Given the description of an element on the screen output the (x, y) to click on. 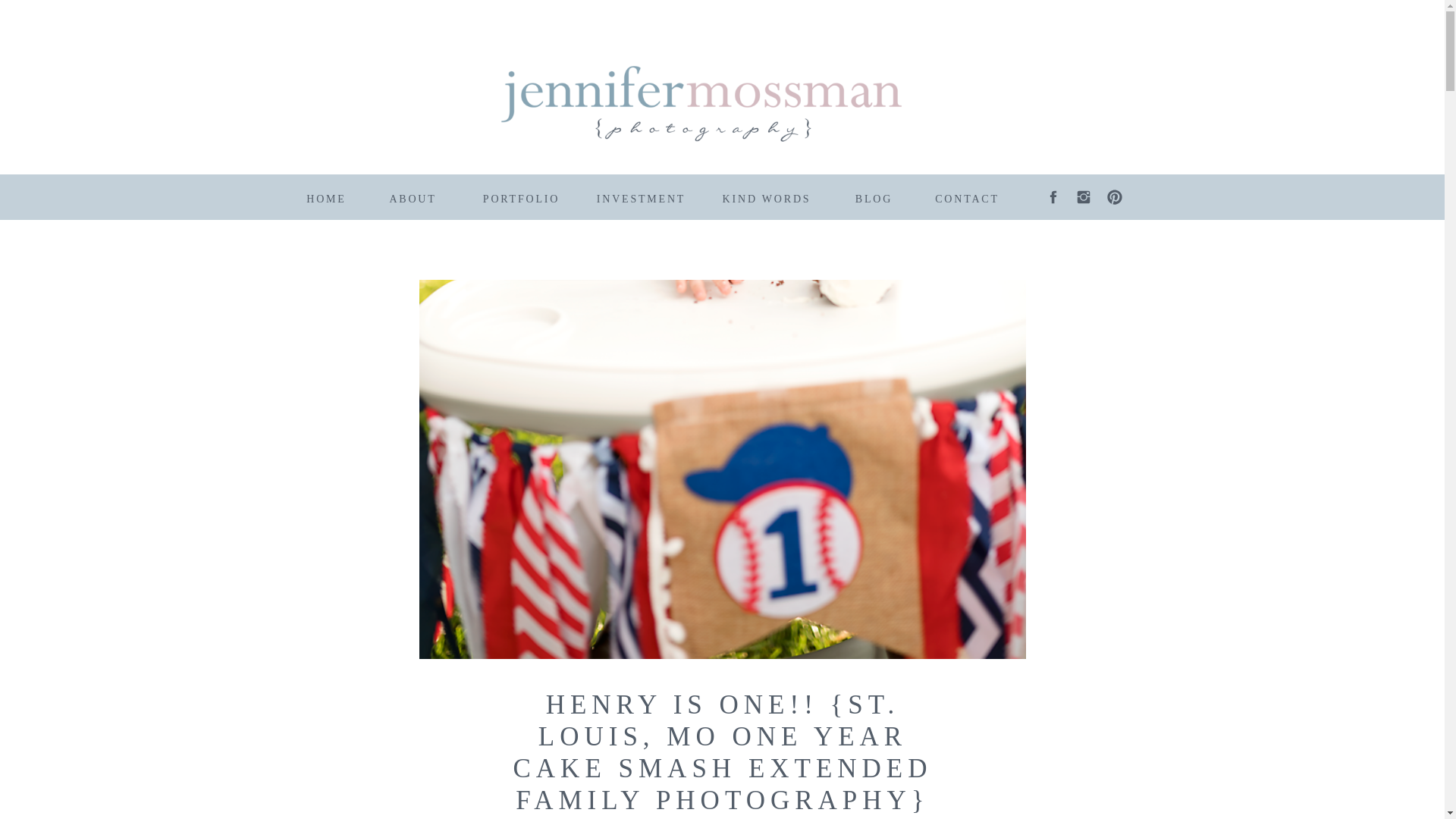
CONTACT (968, 196)
PORTFOLIO (521, 196)
HOME (325, 196)
ABOUT (411, 196)
INVESTMENT (641, 196)
KIND WORDS (767, 196)
BLOG (874, 196)
